Given the description of an element on the screen output the (x, y) to click on. 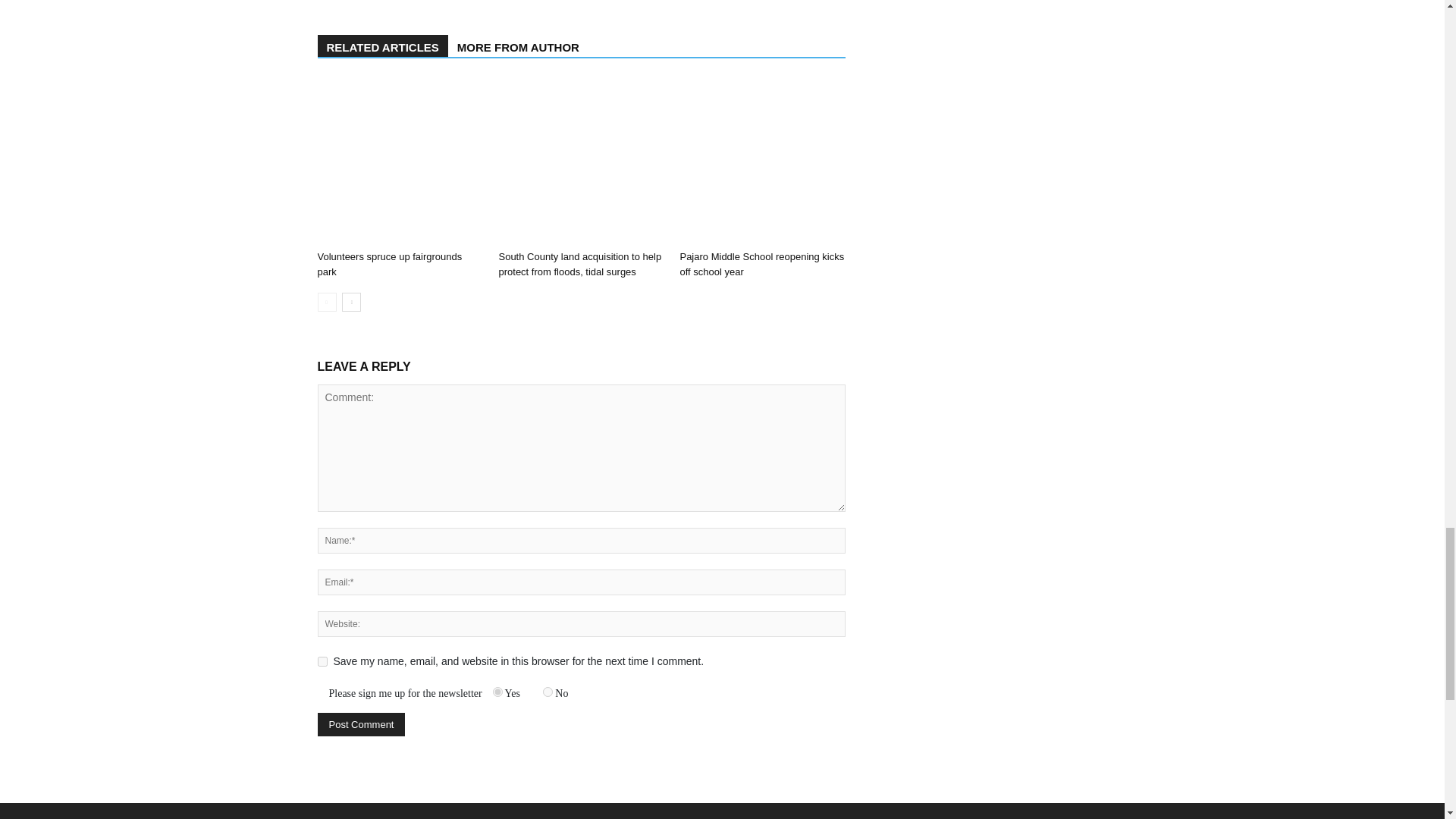
yes (321, 661)
No (548, 691)
Post Comment (360, 724)
Yes (497, 691)
